Given the description of an element on the screen output the (x, y) to click on. 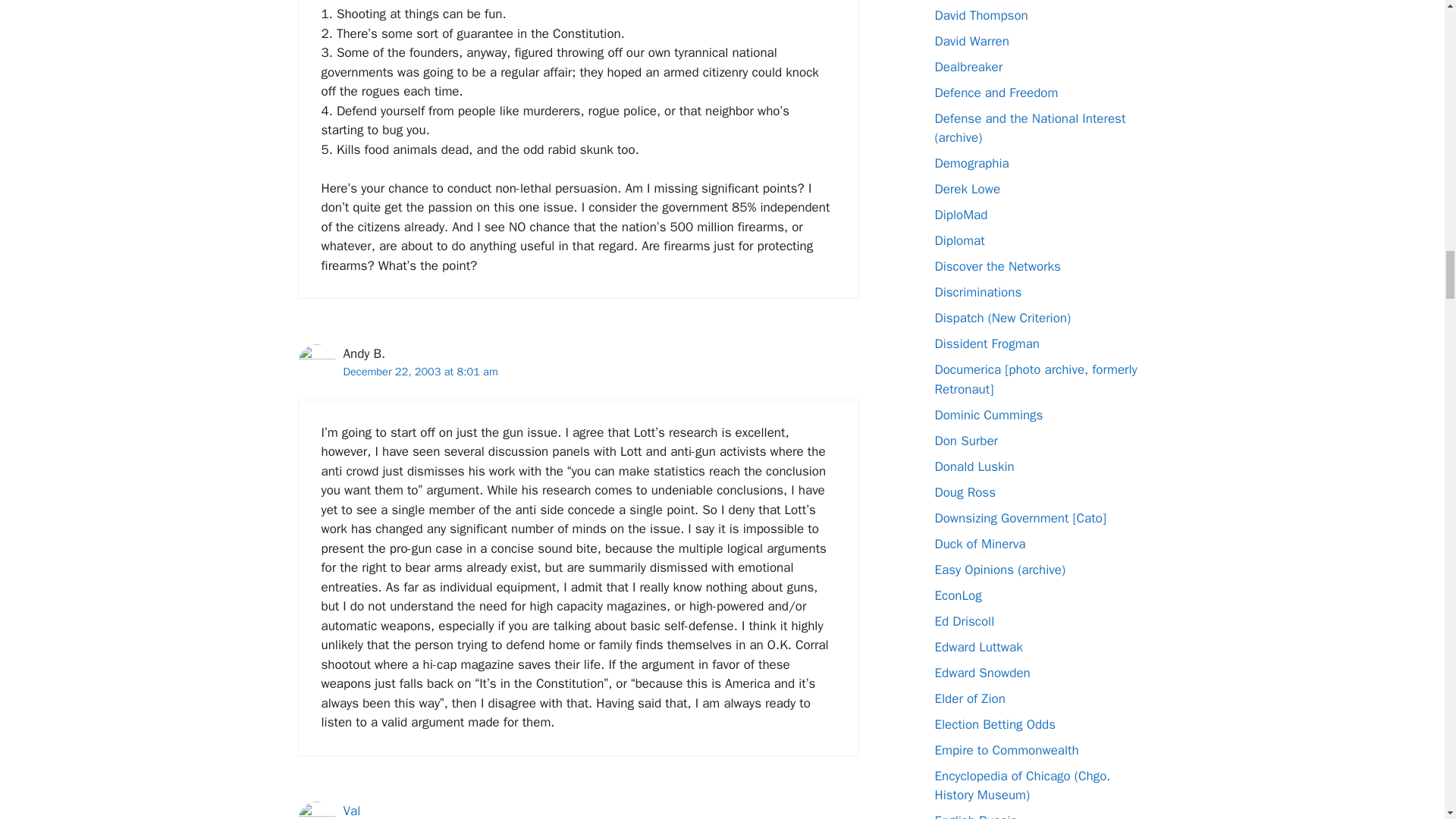
December 22, 2003 at 8:01 am (419, 371)
